Given the description of an element on the screen output the (x, y) to click on. 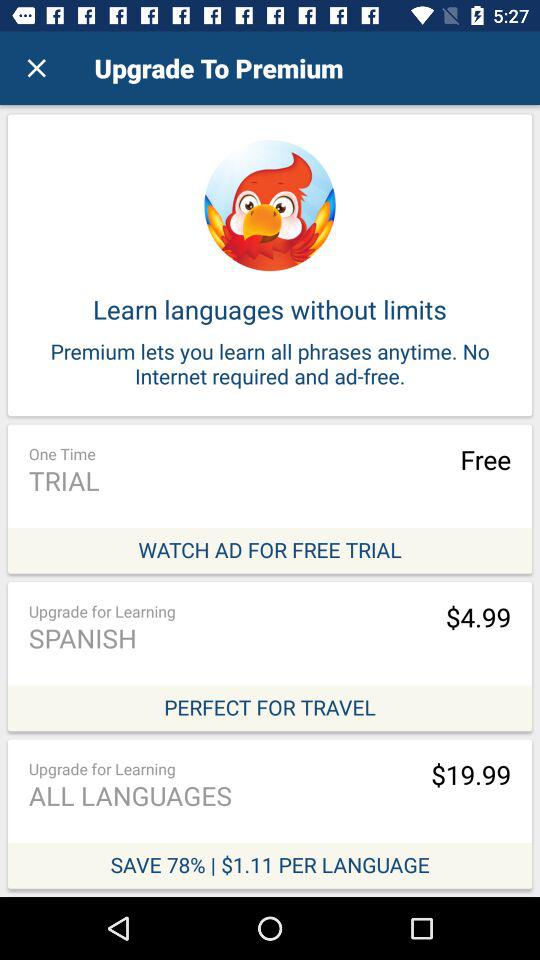
select the item next to the upgrade to premium item (36, 68)
